Given the description of an element on the screen output the (x, y) to click on. 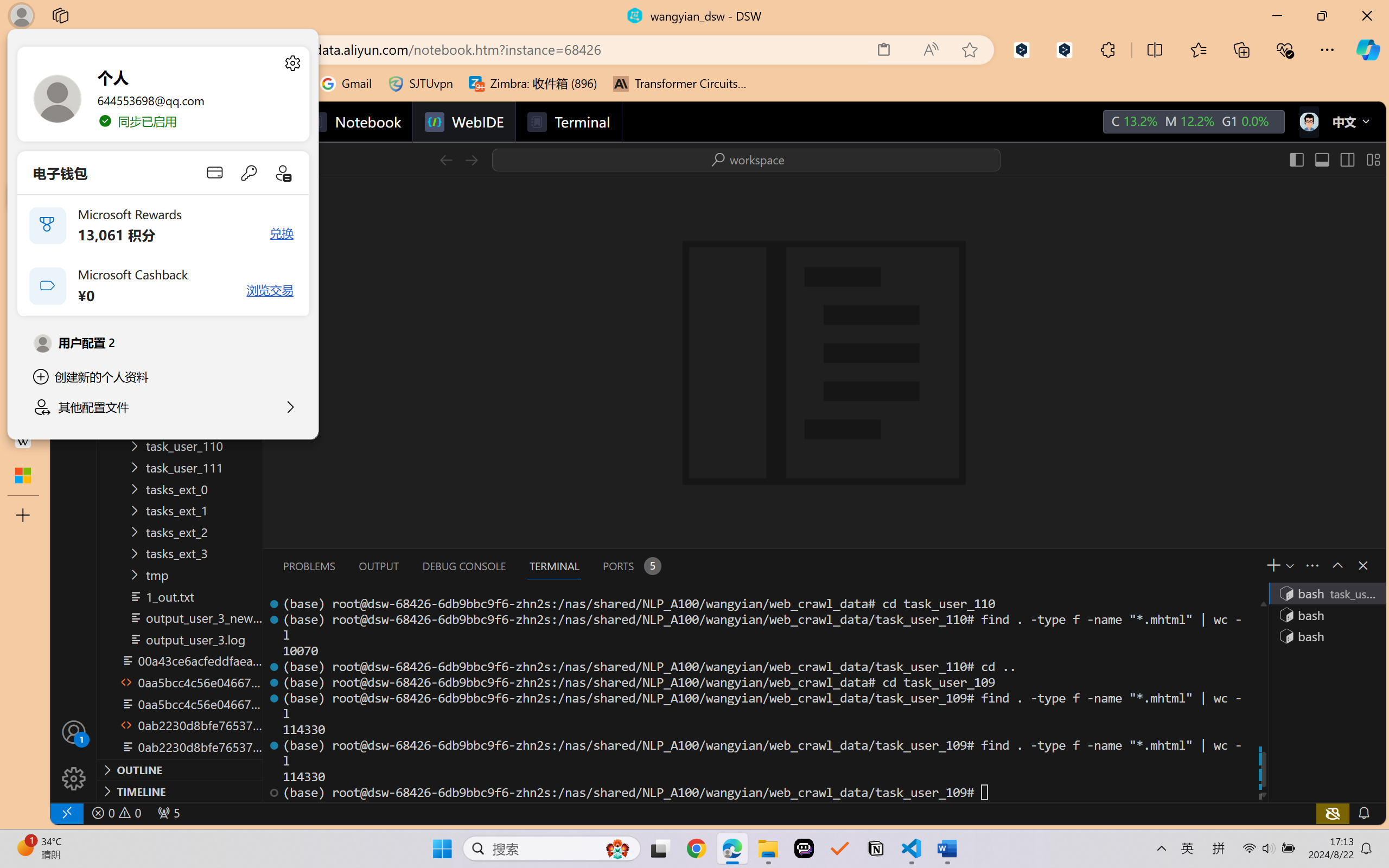
Class: actions-container (1351, 565)
Copilot (Ctrl+Shift+.) (1368, 49)
Outline Section (179, 769)
Go Forward (Alt+RightArrow) (470, 159)
Class: xterm-decoration-overview-ruler (1262, 697)
Ports - 5 forwarded ports (630, 565)
Views and More Actions... (1311, 565)
Close Panel (1362, 565)
